Given the description of an element on the screen output the (x, y) to click on. 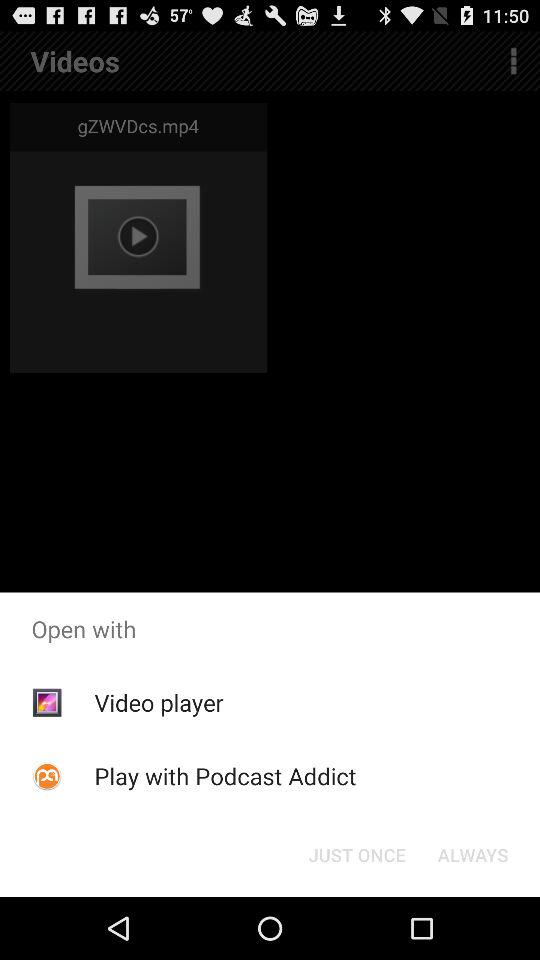
swipe until just once button (356, 854)
